Given the description of an element on the screen output the (x, y) to click on. 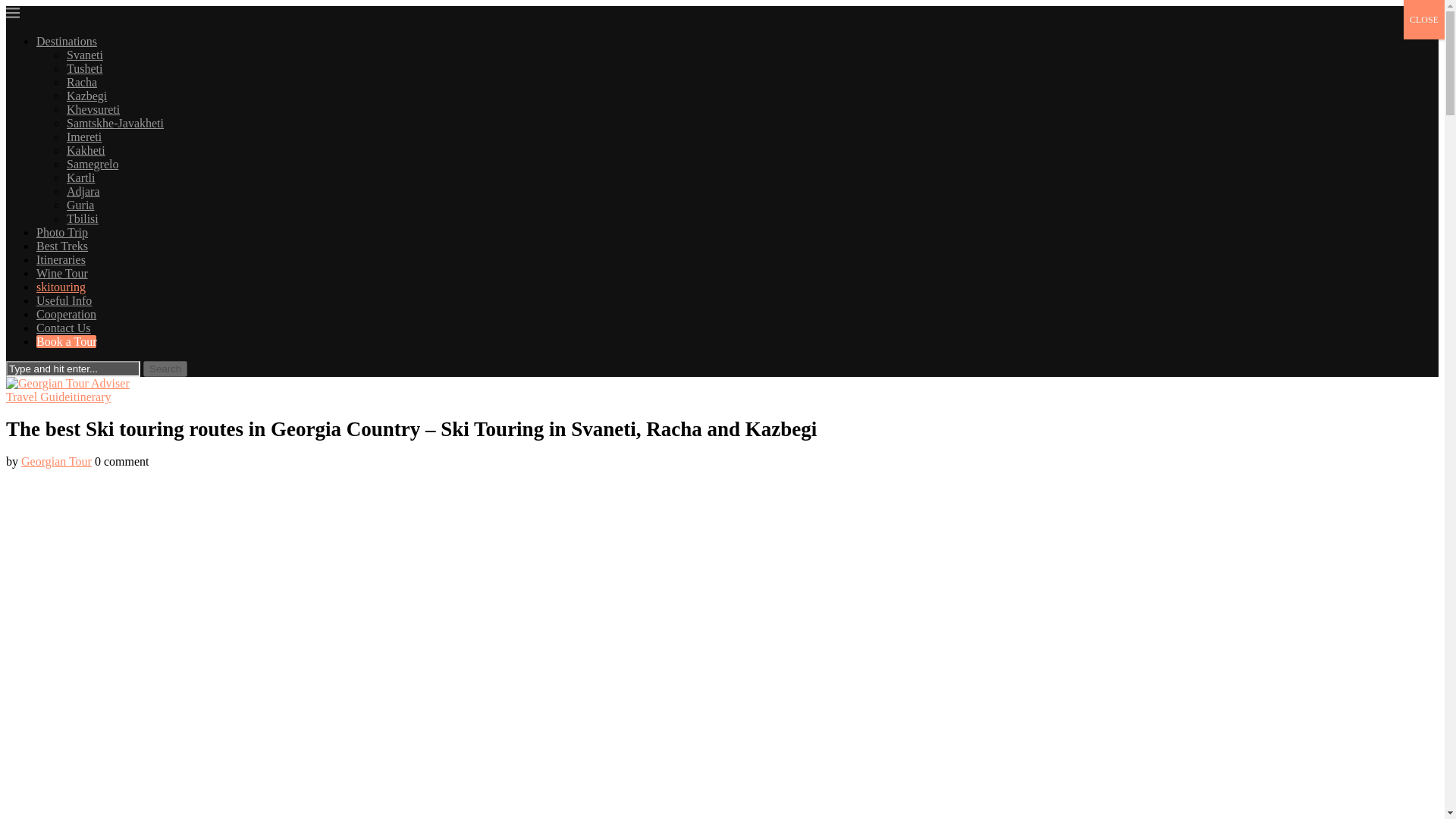
Contact Us (63, 327)
Cooperation (66, 314)
Svaneti (84, 54)
Racha (81, 82)
Travel Guide (37, 396)
Guria (80, 205)
Georgian Tour (56, 461)
Book a Tour (66, 341)
Kakheti (85, 150)
itinerary (89, 396)
Kartli (80, 177)
Tbilisi (82, 218)
Samtskhe-Javakheti (114, 123)
Tusheti (83, 68)
Itineraries (60, 259)
